Given the description of an element on the screen output the (x, y) to click on. 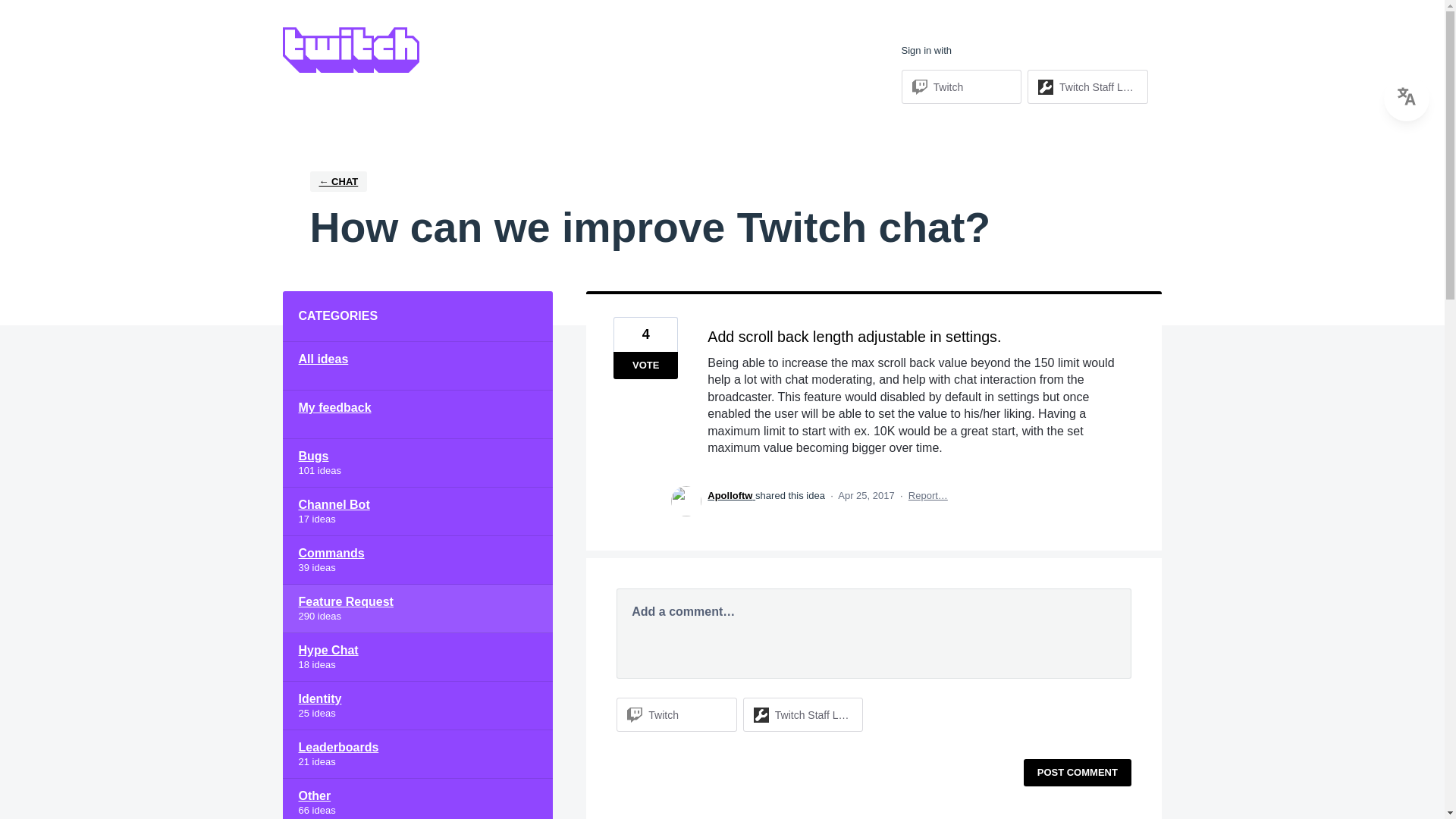
View all ideas in category Feature Request (417, 608)
View all ideas in category Hype Chat (417, 657)
Twitch Staff Login (1098, 85)
Twitch (947, 85)
Twitch sign in (961, 86)
Skip to content (12, 12)
View all ideas in category Bugs (417, 462)
View all ideas in category Commands (417, 560)
View all ideas in category Identity (417, 705)
View all ideas in category Other (417, 798)
Twitch Staff Login sign in (1087, 86)
Twitch UserVoice (350, 49)
View all ideas in category Leaderboards (417, 754)
View all ideas in category Channel Bot (417, 511)
